Given the description of an element on the screen output the (x, y) to click on. 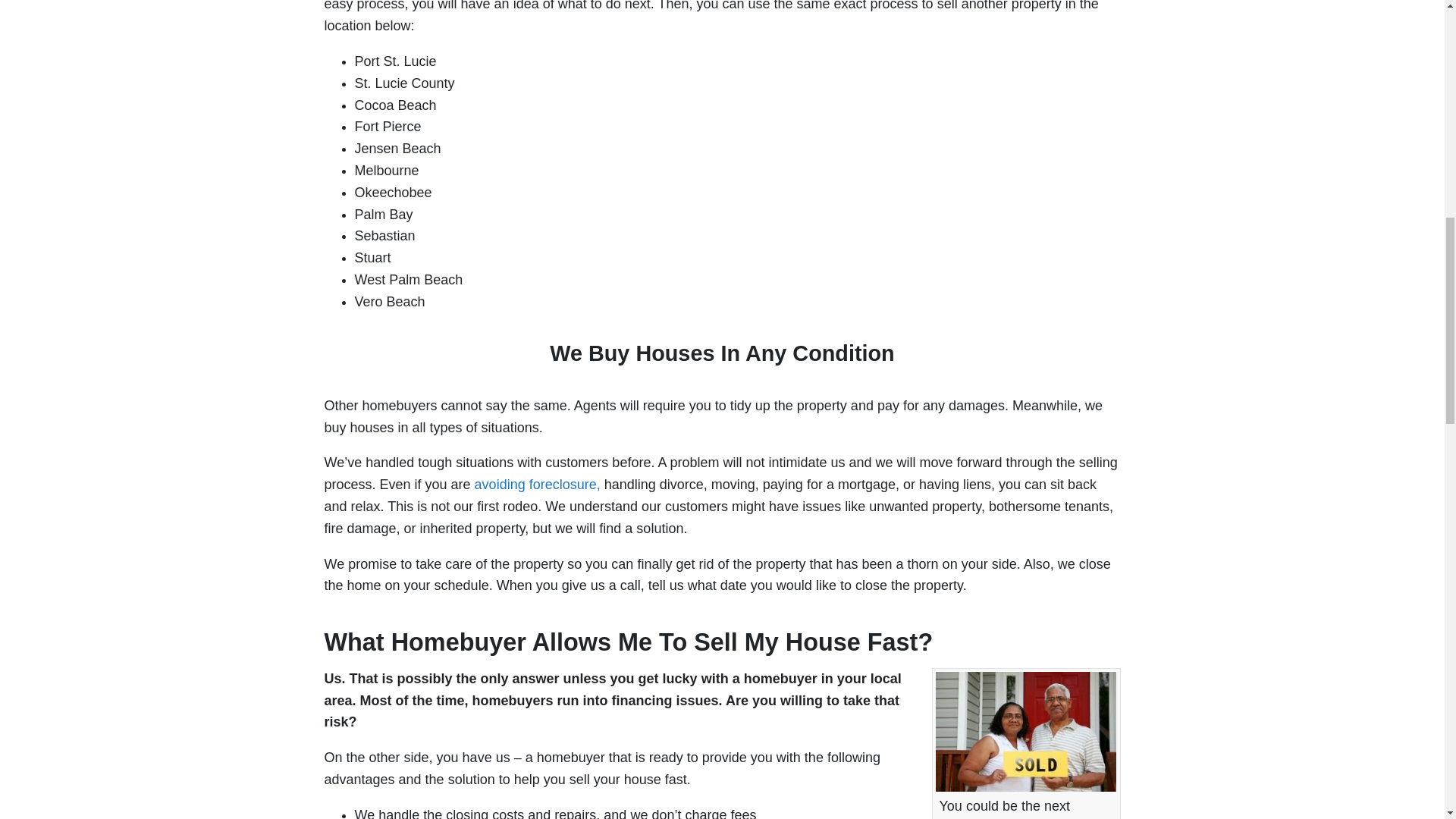
avoiding foreclosure, (536, 484)
